Given the description of an element on the screen output the (x, y) to click on. 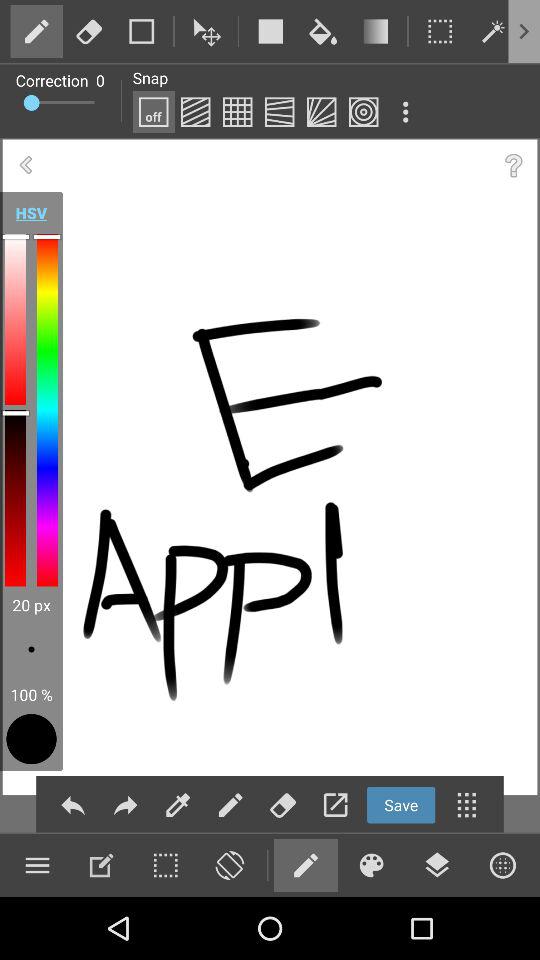
off button (153, 112)
